Given the description of an element on the screen output the (x, y) to click on. 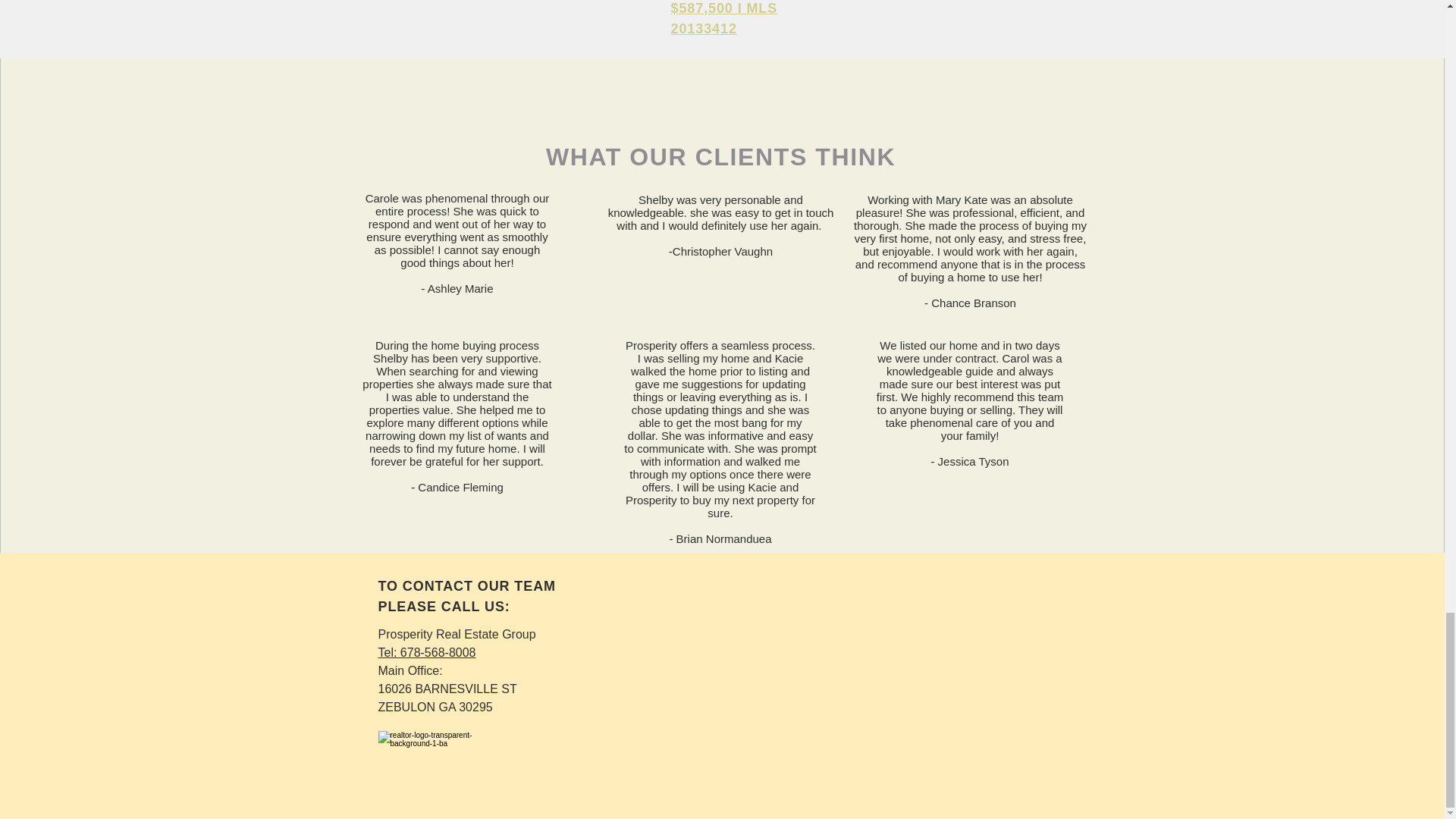
Tel: 678-568-8008 (426, 652)
